Given the description of an element on the screen output the (x, y) to click on. 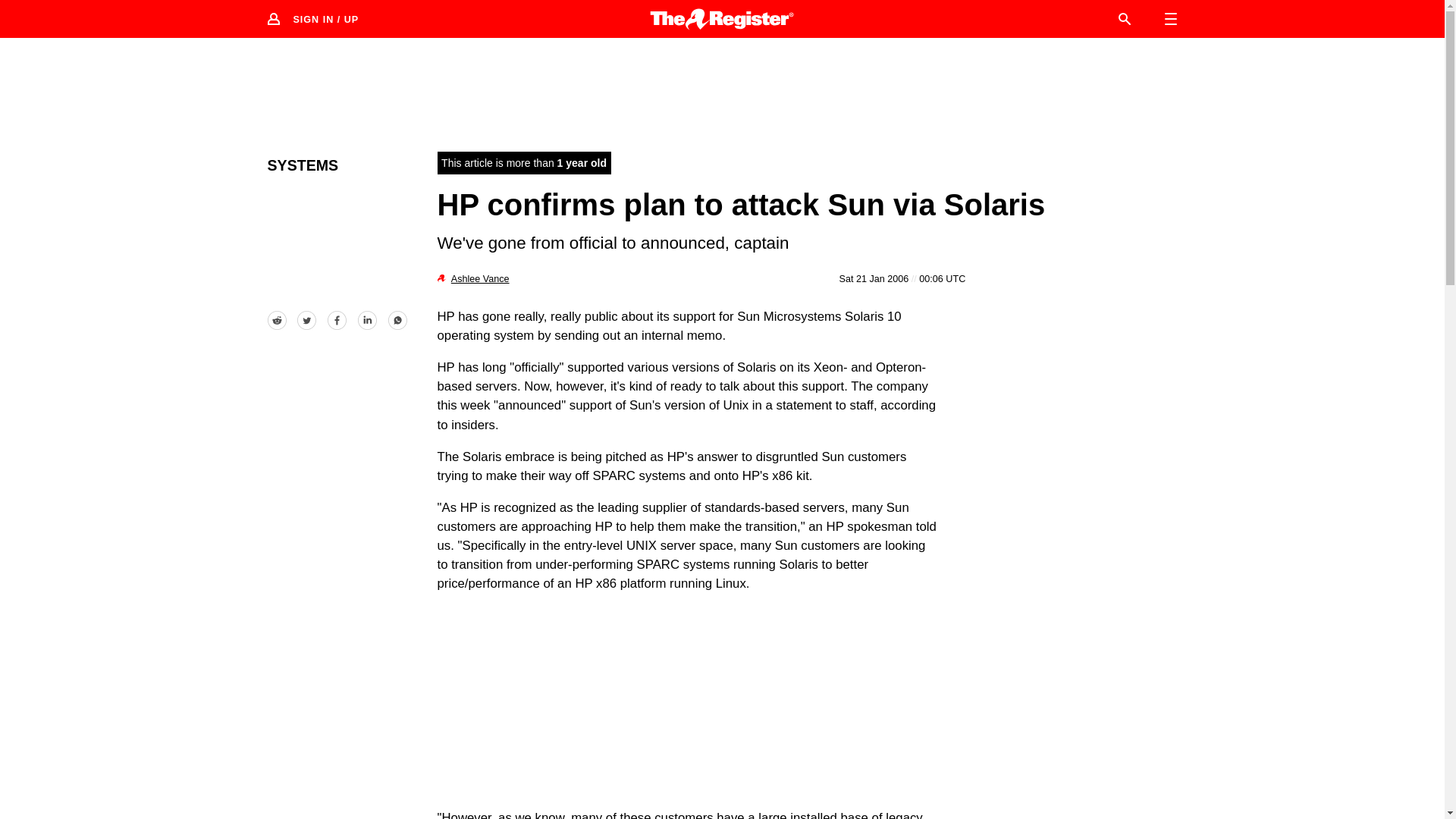
Read more by this author (480, 278)
